Given the description of an element on the screen output the (x, y) to click on. 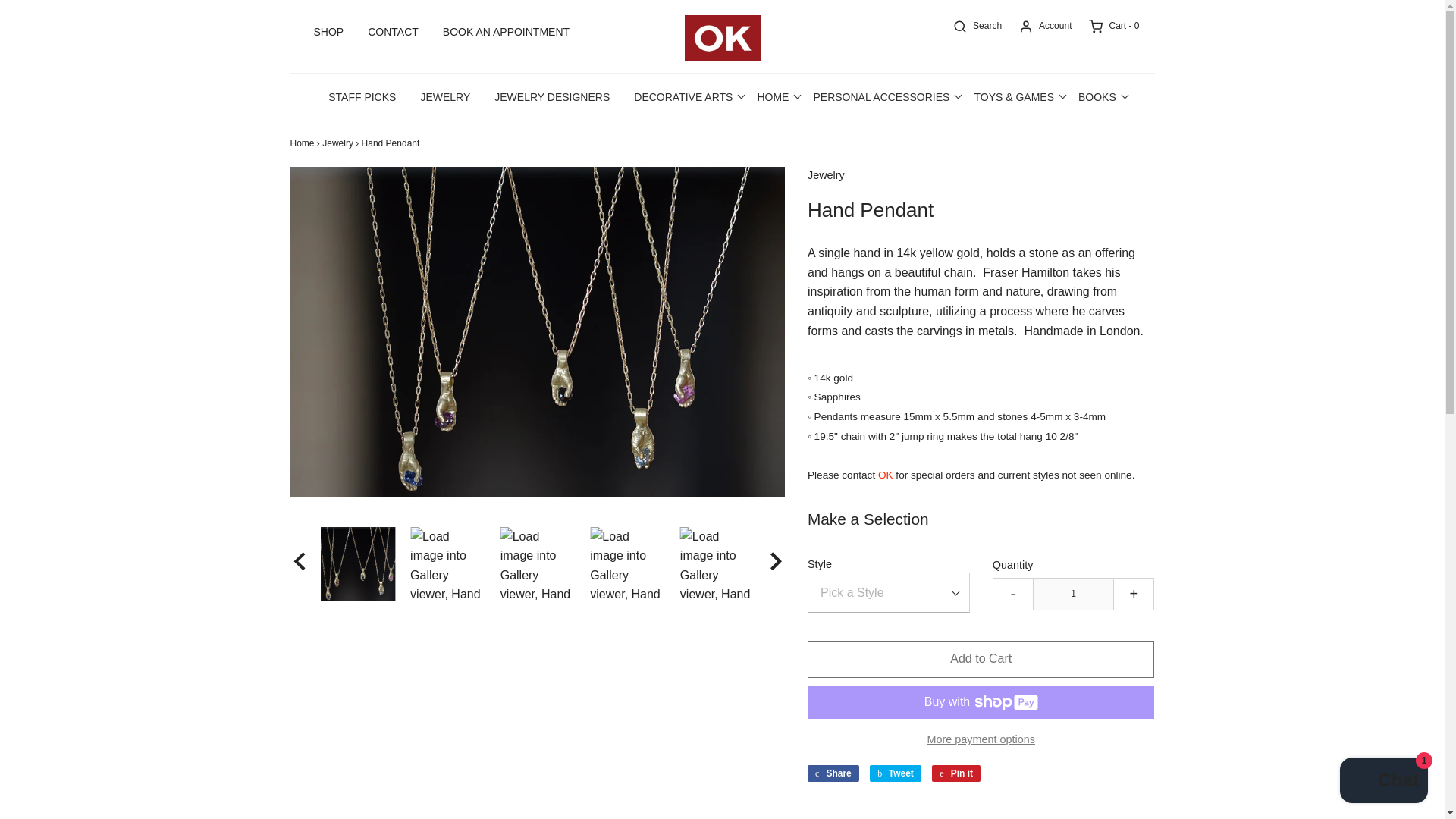
1 (1072, 594)
Pick a Style (888, 592)
